Given the description of an element on the screen output the (x, y) to click on. 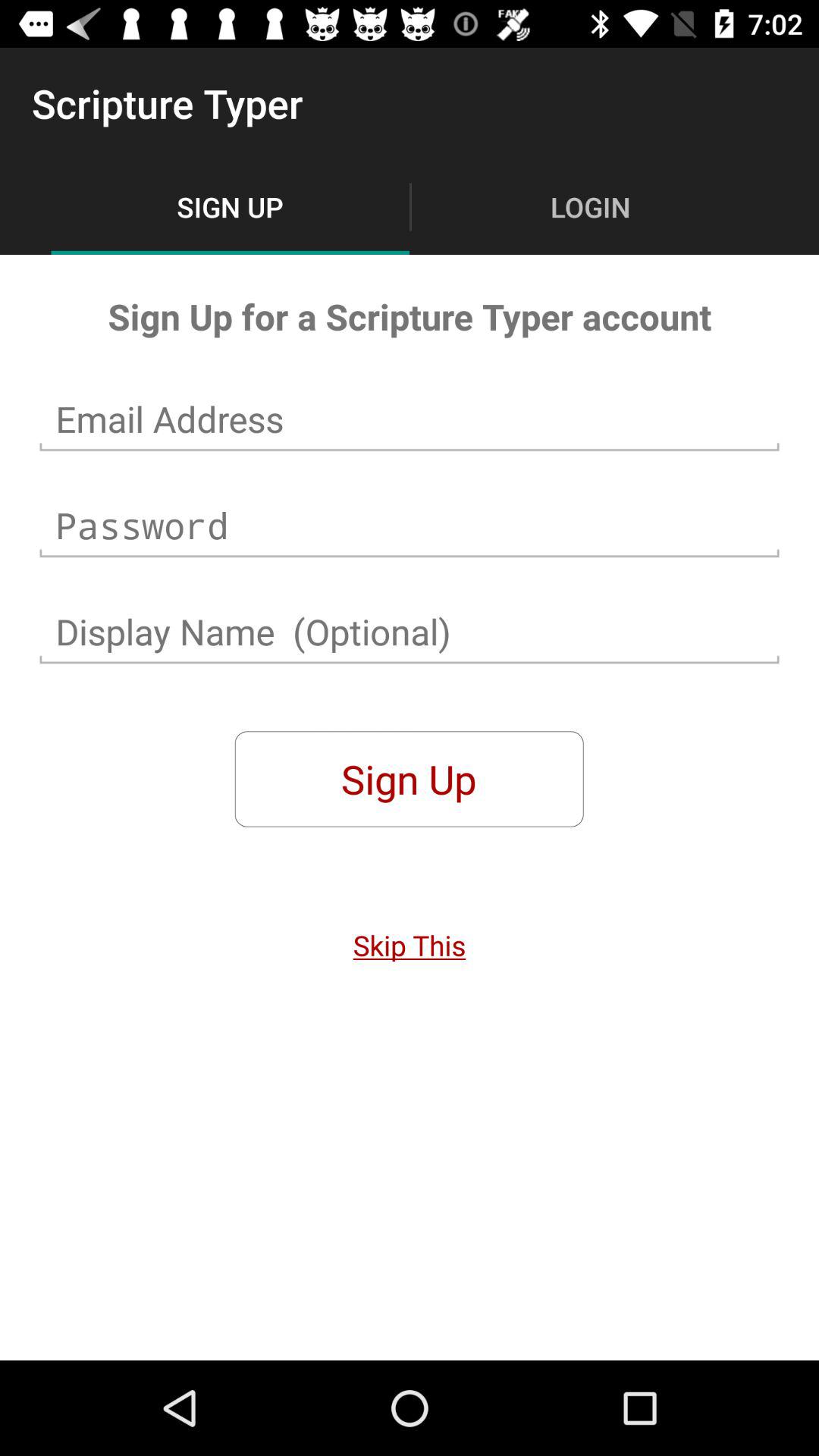
enter name (409, 632)
